Given the description of an element on the screen output the (x, y) to click on. 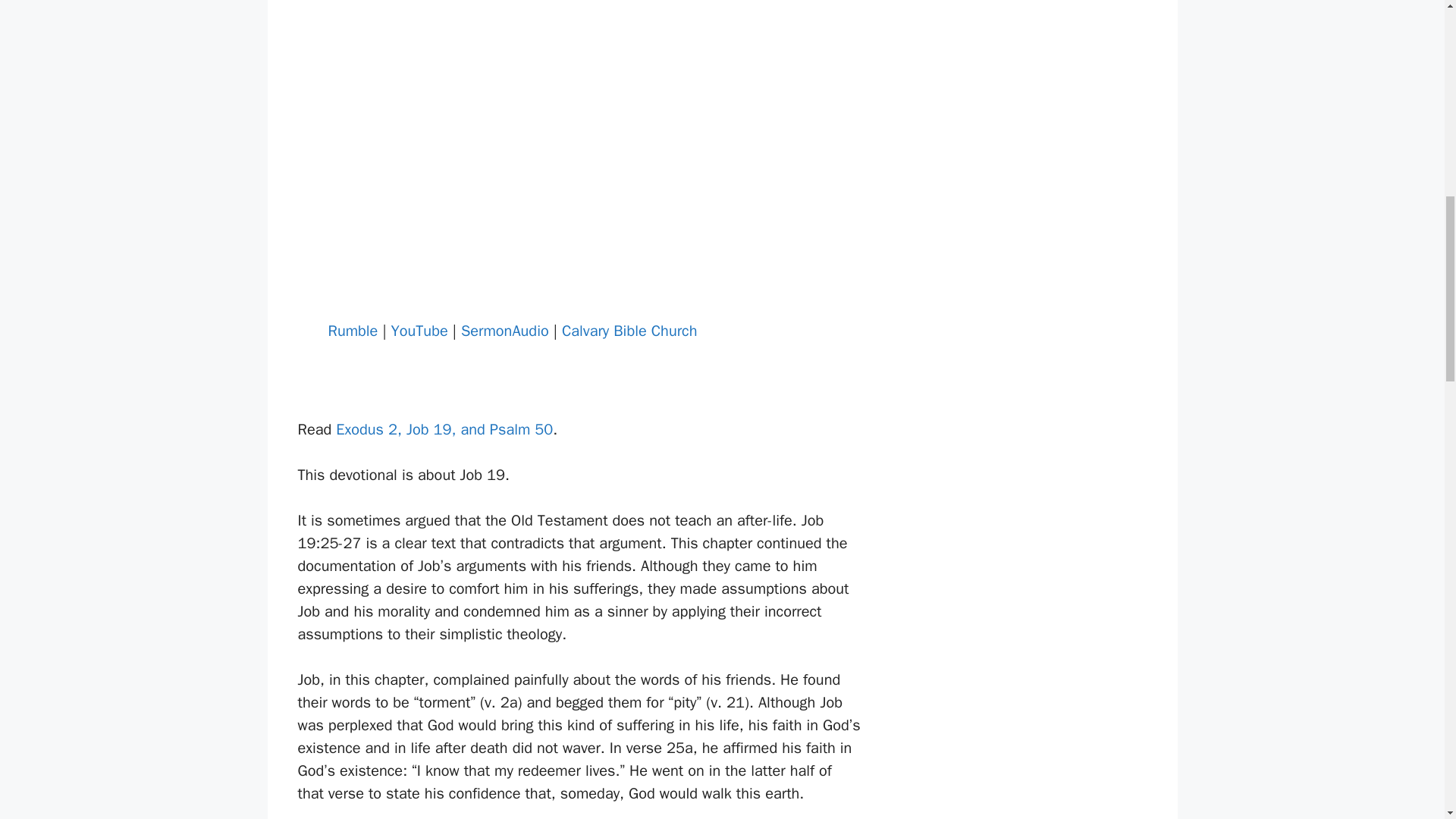
Scroll back to top (1406, 720)
Rumble (352, 330)
YouTube (419, 330)
Calvary Bible Church (629, 330)
Exodus 2, Job 19, and Psalm 50 (444, 429)
SermonAudio (504, 330)
